Given the description of an element on the screen output the (x, y) to click on. 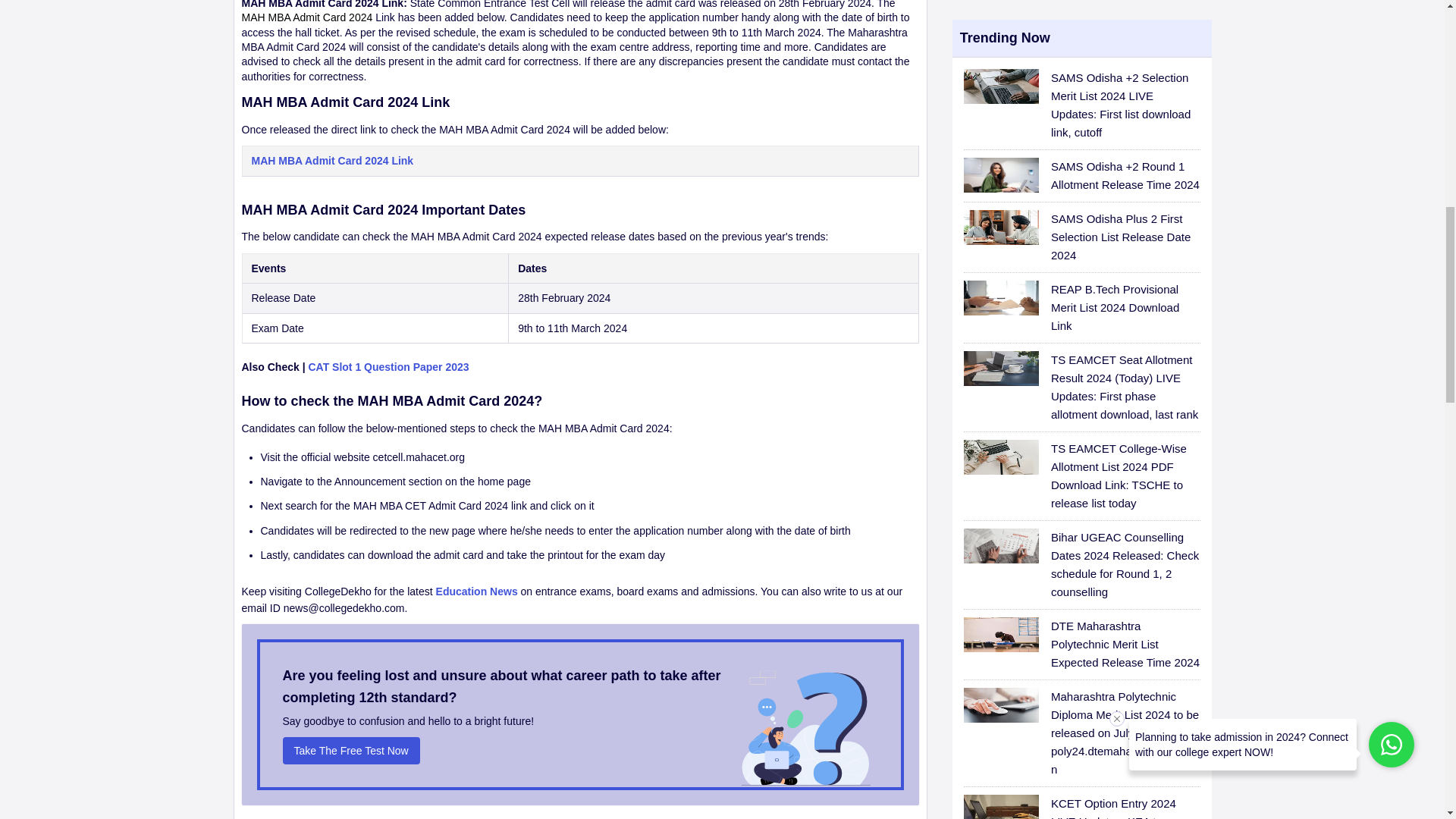
MAH MBA Admit Card 2024 Link (579, 167)
